Given the description of an element on the screen output the (x, y) to click on. 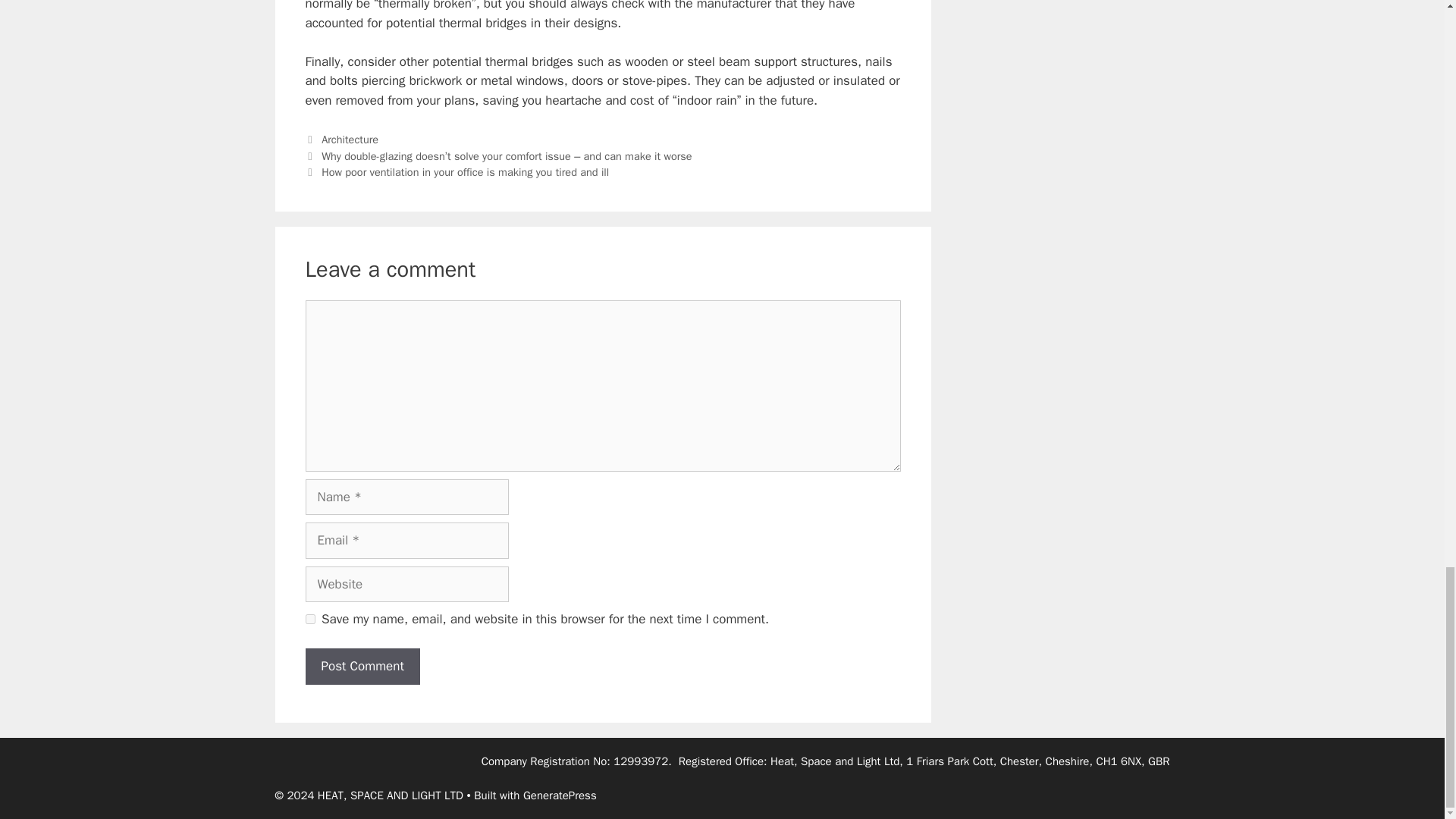
yes (309, 619)
Architecture (349, 139)
Post Comment (361, 666)
Post Comment (361, 666)
